Given the description of an element on the screen output the (x, y) to click on. 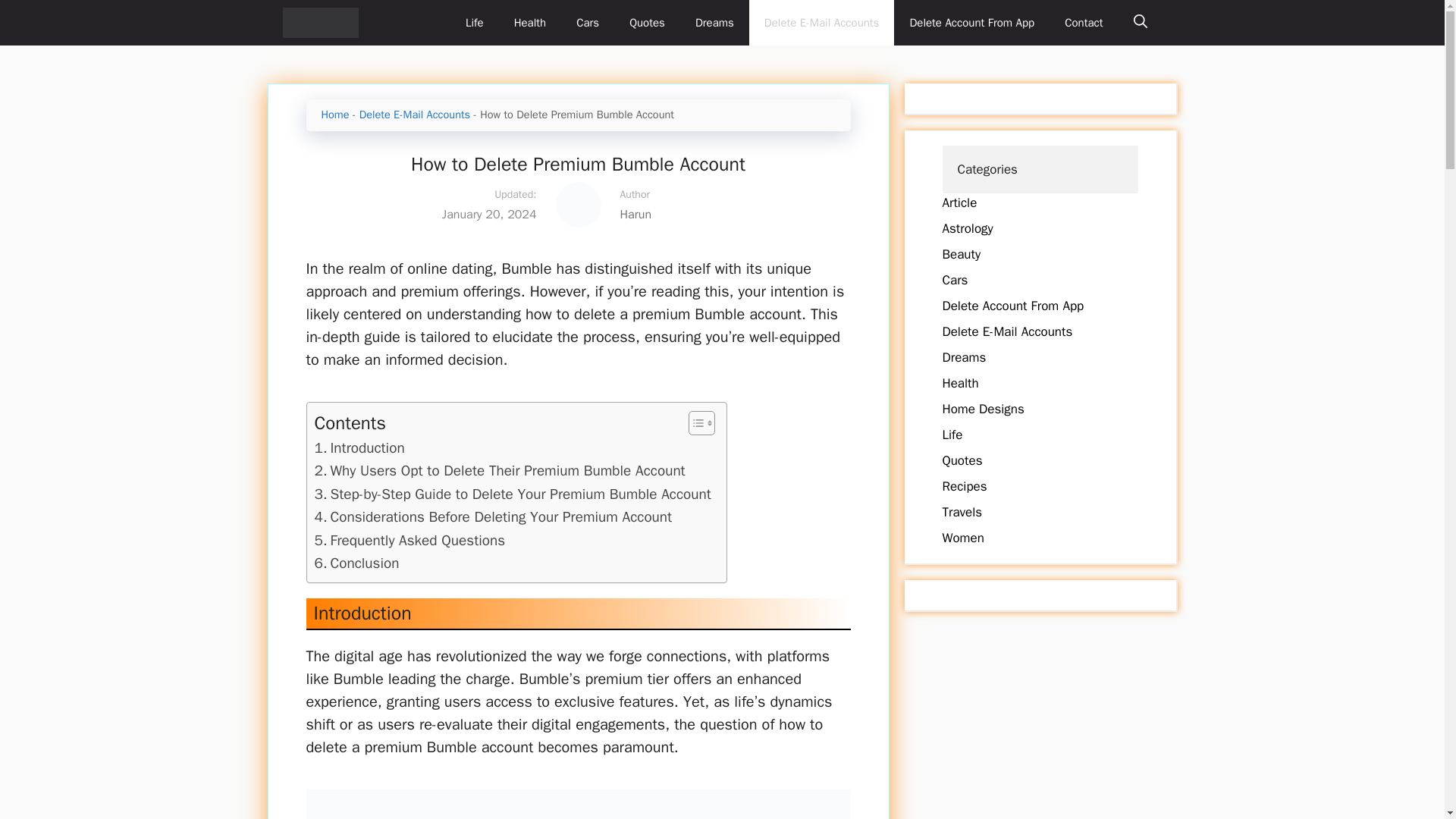
Introduction (359, 447)
Conclusion (356, 563)
Delete E-Mail Accounts (822, 22)
Step-by-Step Guide to Delete Your Premium Bumble Account (512, 494)
Contact (1083, 22)
Harun (725, 213)
Article (959, 202)
Conclusion (356, 563)
Why Users Opt to Delete Their Premium Bumble Account (499, 470)
Delete E-Mail Accounts (1006, 331)
Cars (587, 22)
Delete E-Mail Accounts (414, 114)
Dreams (963, 357)
BeingWrongBook.com (320, 22)
Beauty (960, 254)
